Given the description of an element on the screen output the (x, y) to click on. 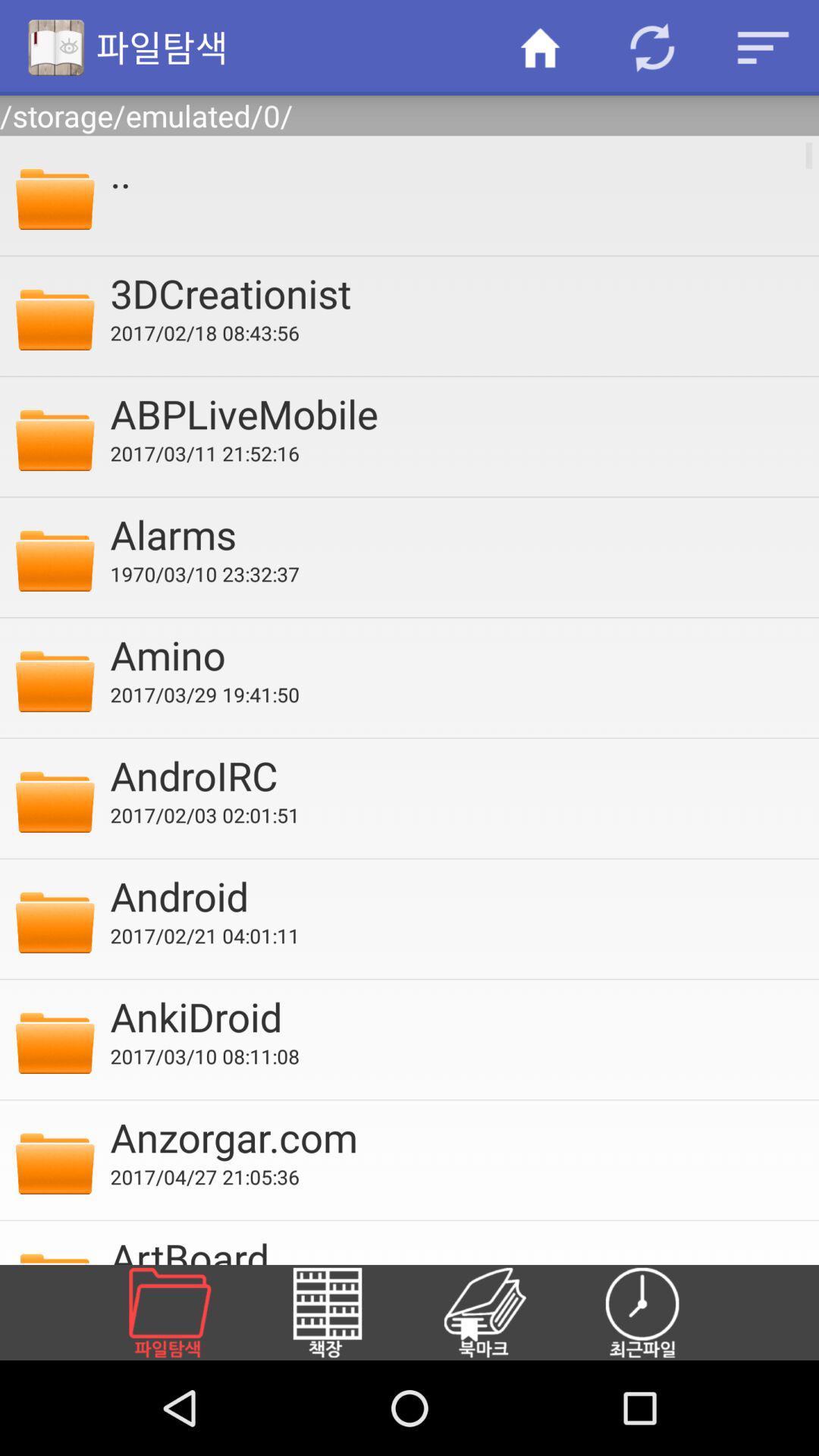
tap item below the 2017 03 29 item (454, 775)
